Given the description of an element on the screen output the (x, y) to click on. 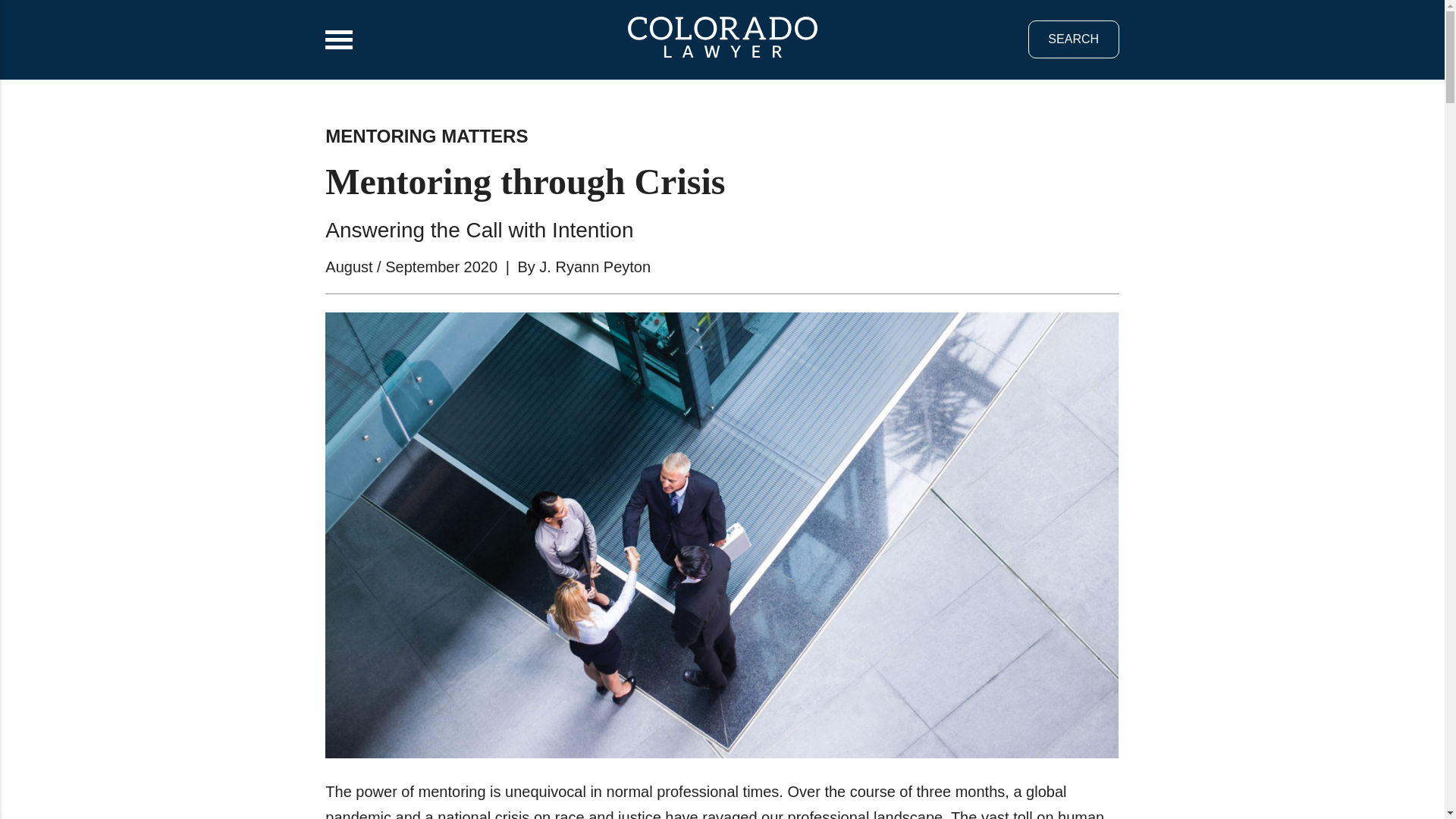
MENTORING MATTERS (425, 136)
SEARCH (1073, 39)
